Given the description of an element on the screen output the (x, y) to click on. 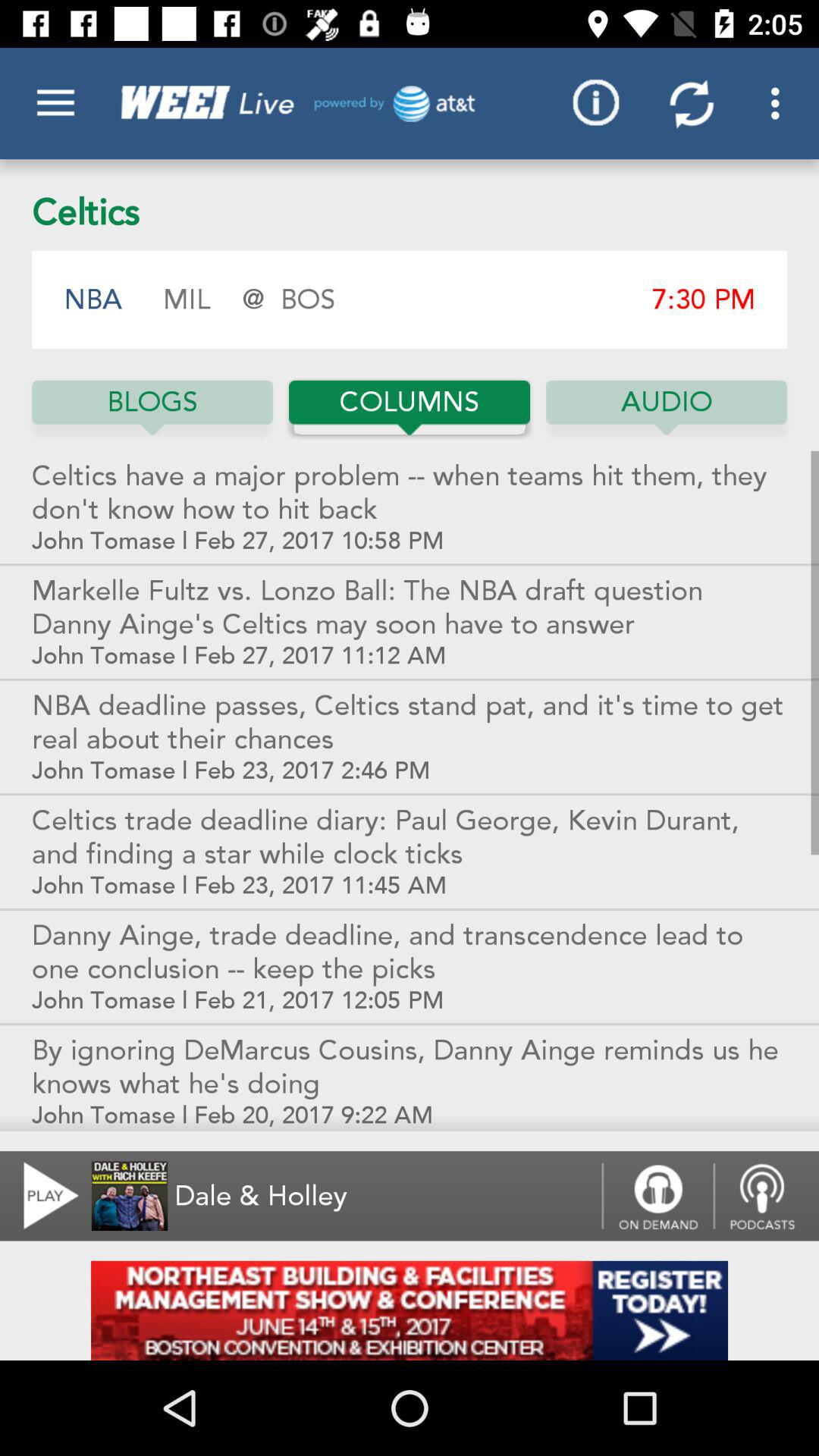
advertisement (409, 1310)
